Given the description of an element on the screen output the (x, y) to click on. 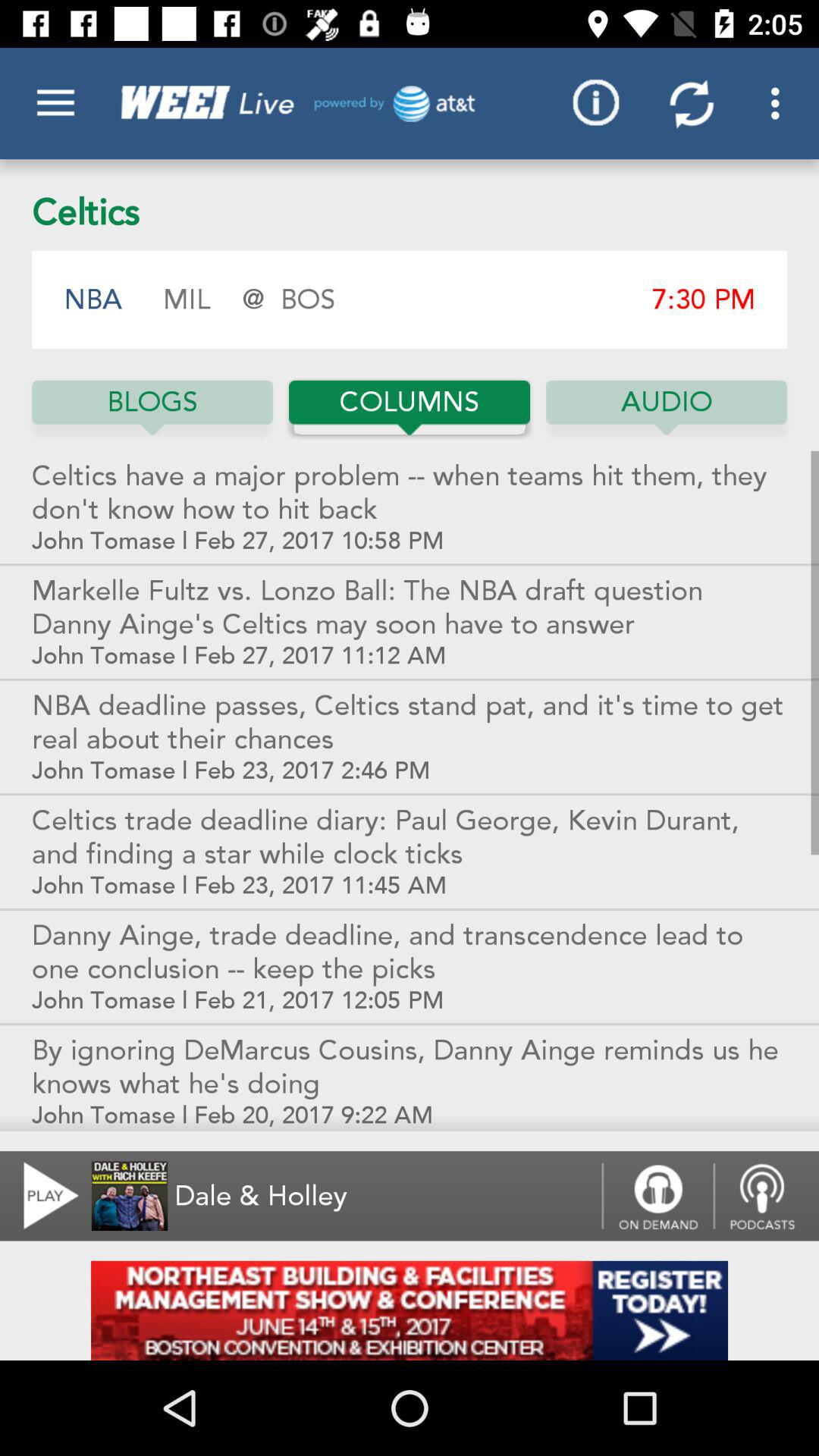
advertisement (409, 1310)
